Given the description of an element on the screen output the (x, y) to click on. 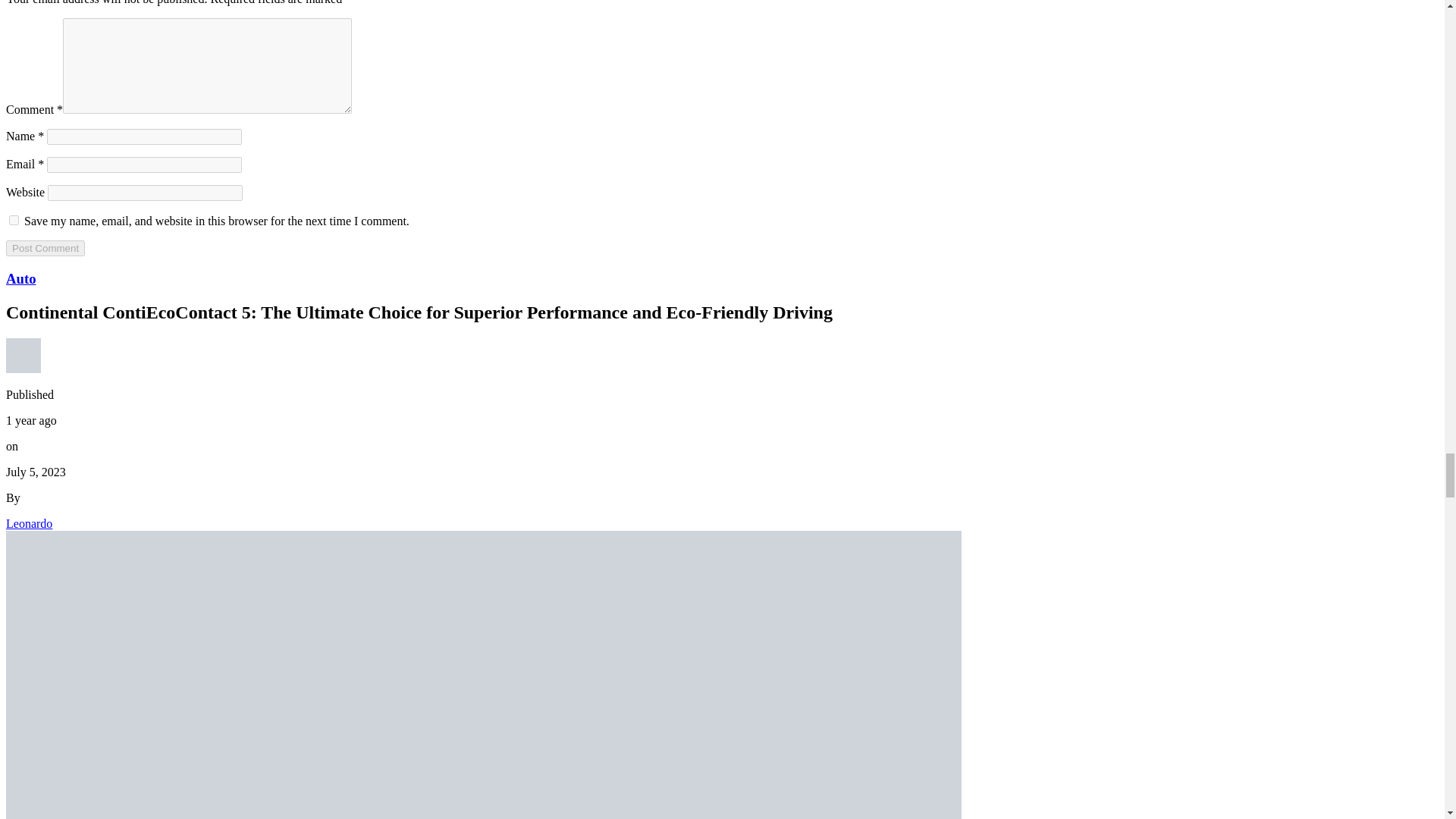
Post Comment (44, 248)
yes (13, 220)
